Given the description of an element on the screen output the (x, y) to click on. 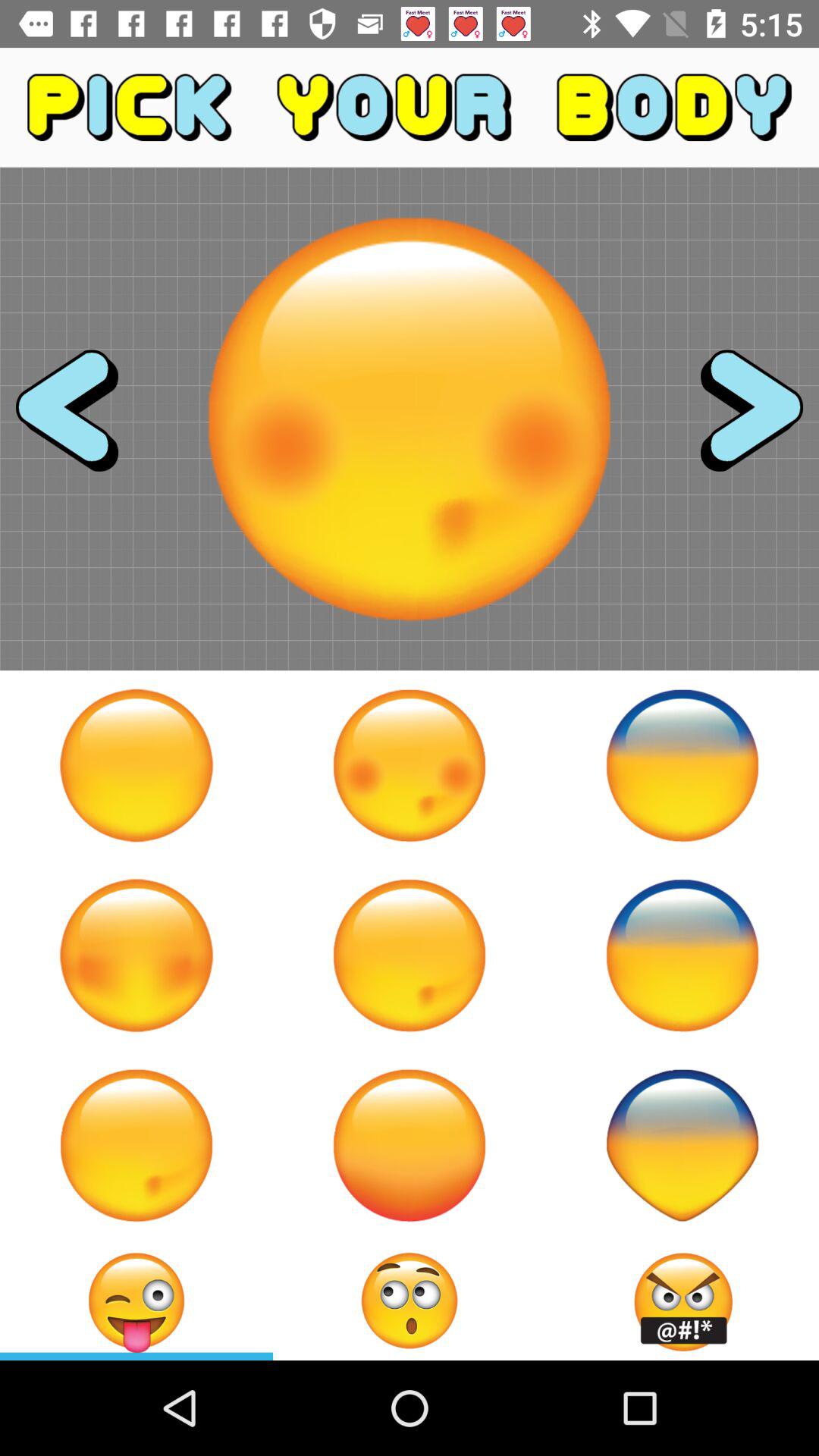
open a menu (409, 1300)
